Given the description of an element on the screen output the (x, y) to click on. 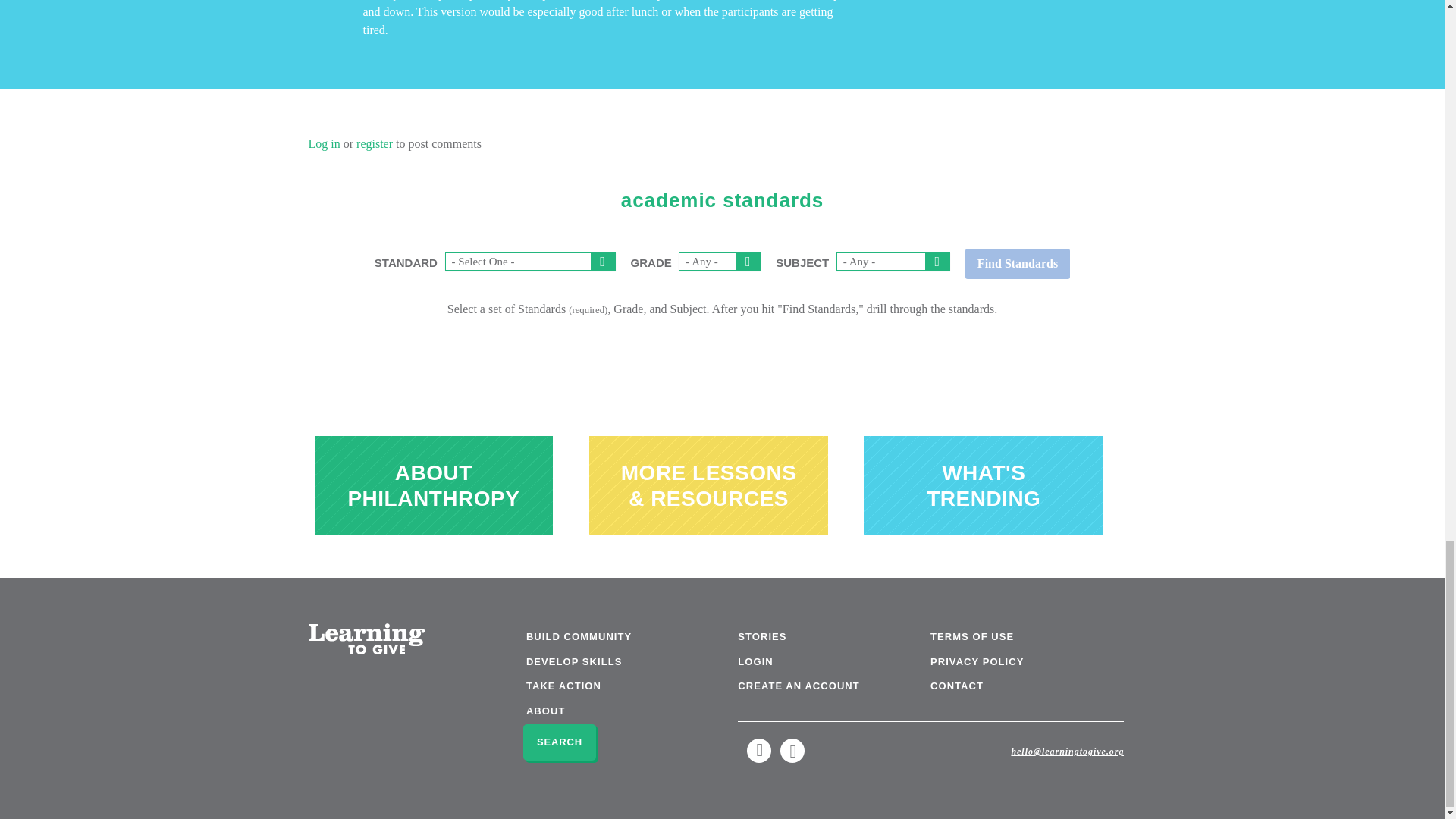
Find Standards (1017, 263)
